Given the description of an element on the screen output the (x, y) to click on. 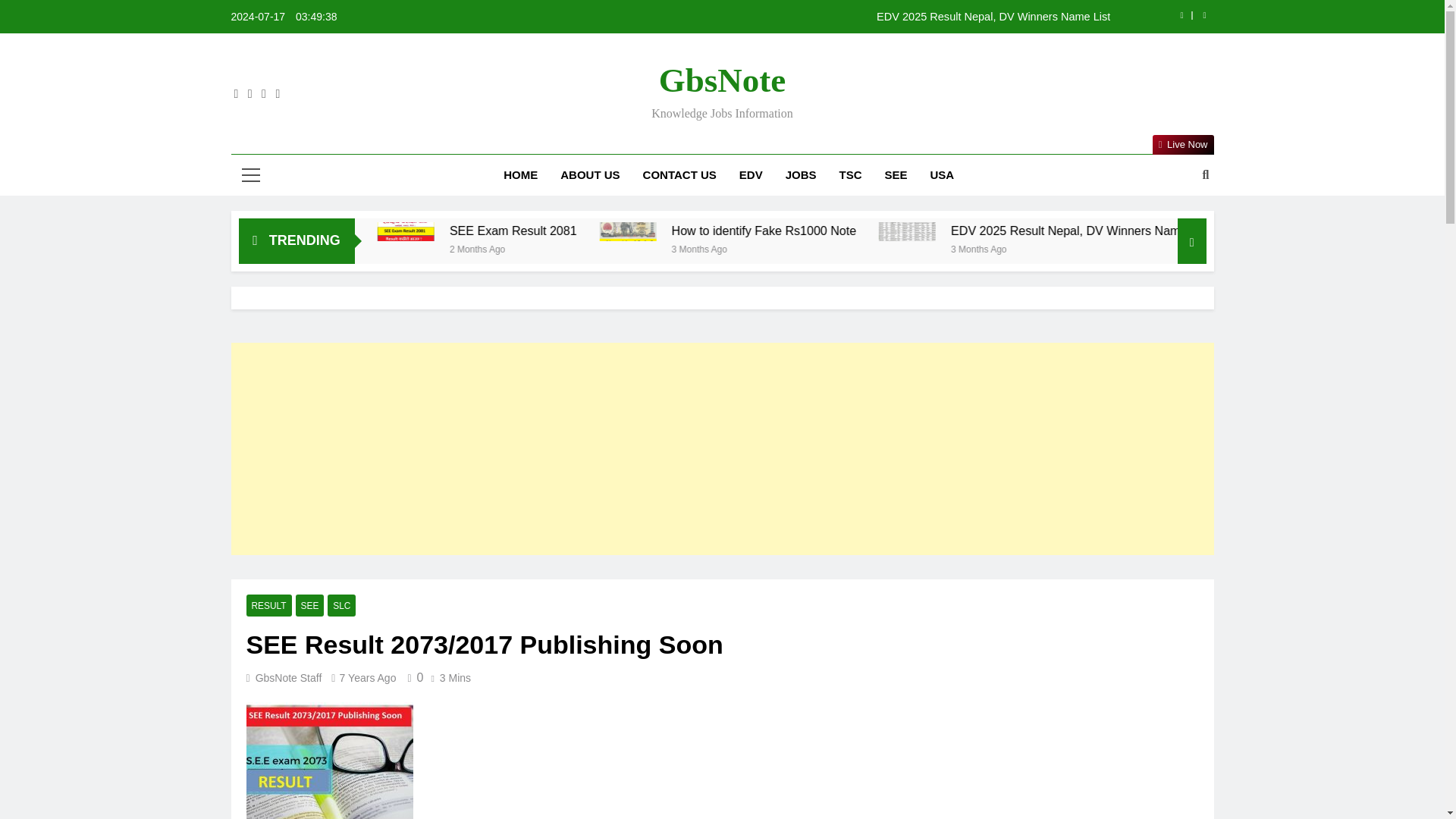
2 Months Ago (630, 247)
3 Months Ago (845, 247)
CONTACT US (679, 174)
TSC (850, 174)
USA (942, 174)
SEE Exam Result 2081 (633, 230)
EDV 2025 Result Nepal, DV Winners Name List (817, 16)
How to identify Fake Rs1000 Note (742, 230)
How to identify Fake Rs1000 Note (913, 230)
GbsNote (722, 80)
EDV (751, 174)
HOME (520, 174)
SEE 2081 Exam Result !!! (413, 230)
1 Month Ago (399, 247)
EDV 2025 Result Nepal, DV Winners Name List (817, 16)
